Given the description of an element on the screen output the (x, y) to click on. 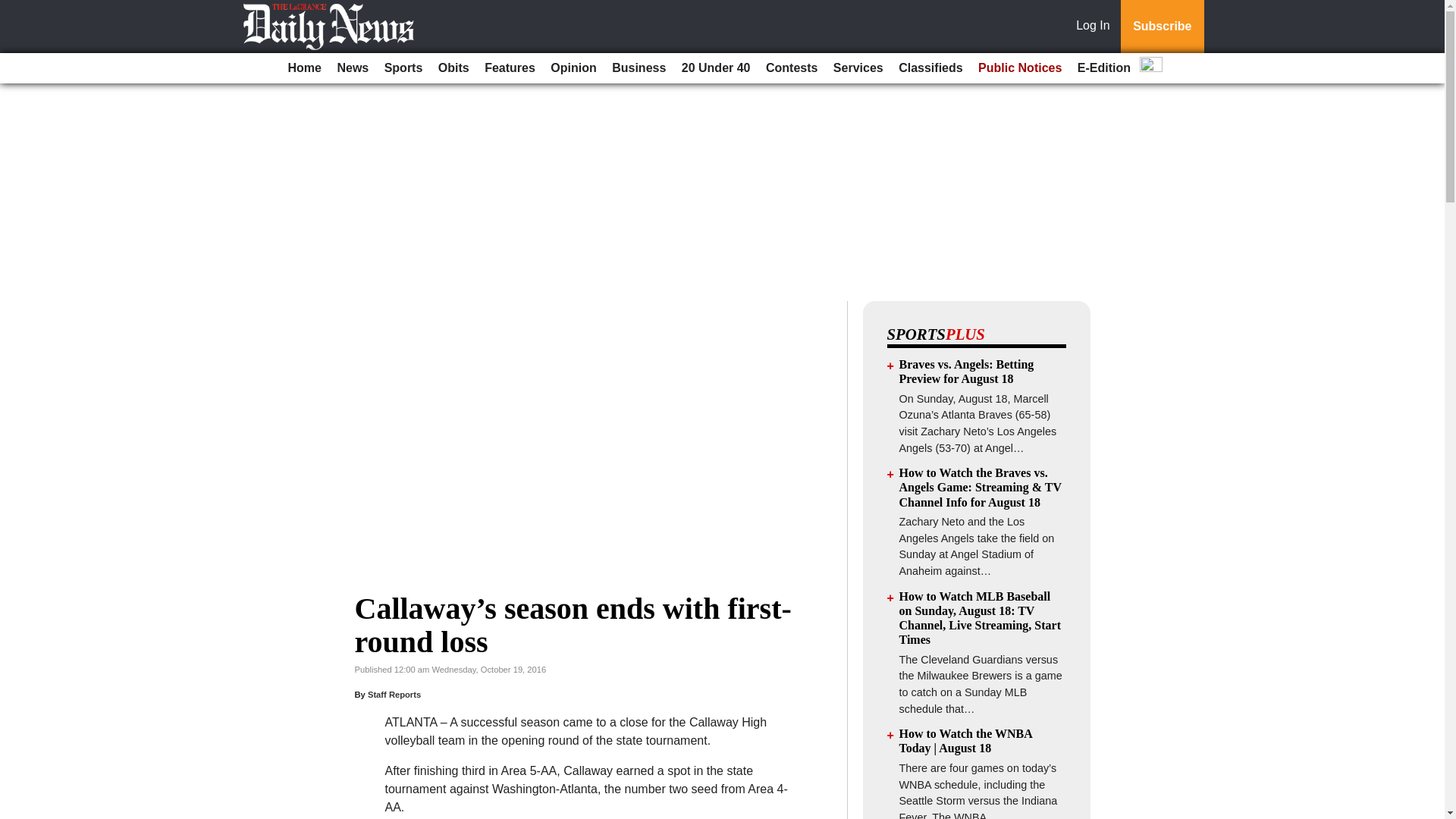
E-Edition (1104, 68)
Sports (403, 68)
Services (858, 68)
20 Under 40 (716, 68)
Contests (792, 68)
Subscribe (1162, 26)
Log In (1095, 26)
Home (304, 68)
Staff Reports (394, 694)
